Given the description of an element on the screen output the (x, y) to click on. 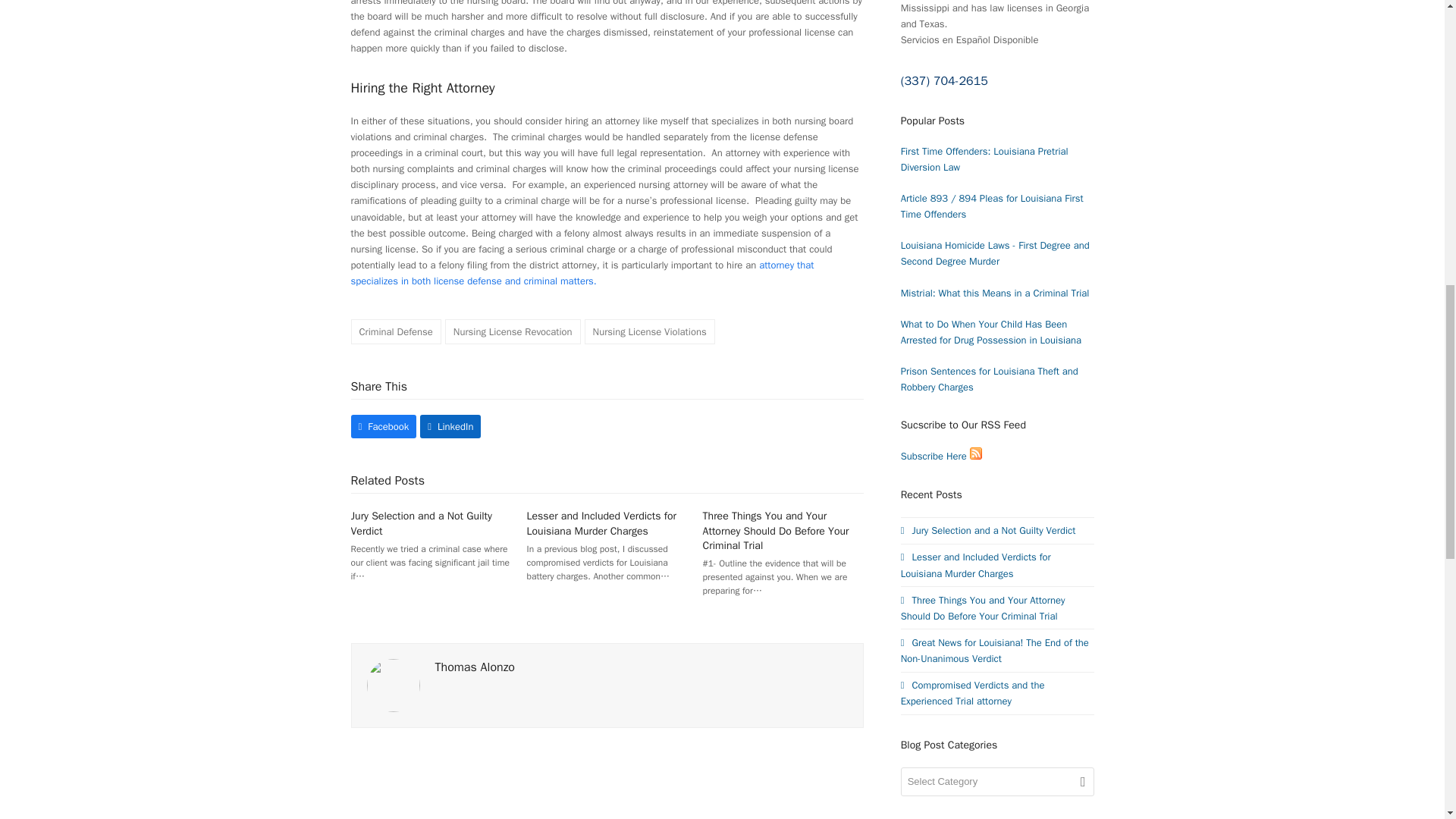
Nursing Board Hearings (581, 272)
